Given the description of an element on the screen output the (x, y) to click on. 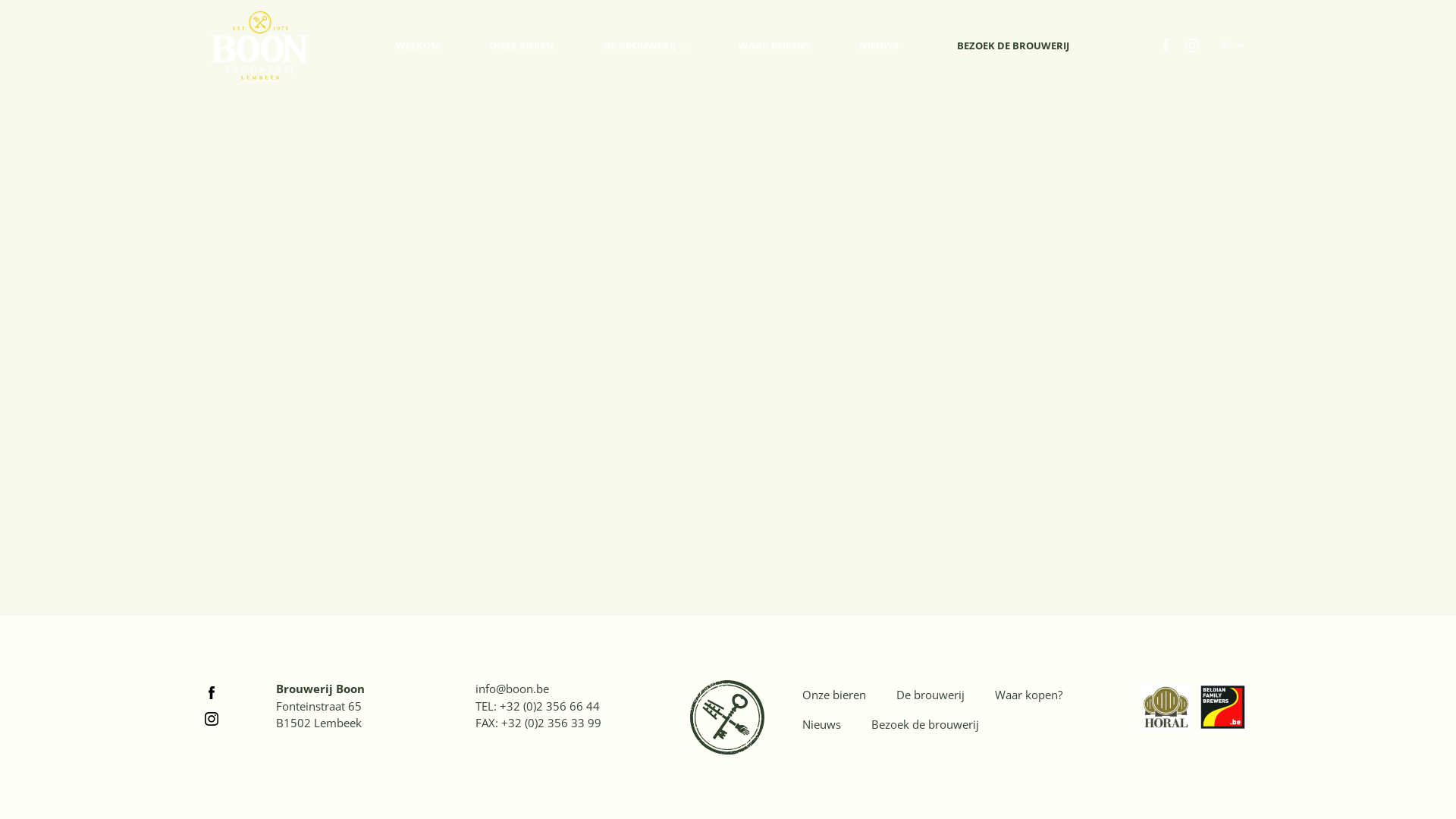
BEZOEK DE BROUWERIJ Element type: text (1012, 45)
WAAR KOPEN? Element type: text (773, 45)
info@boon.be Element type: text (512, 688)
De brouwerij Element type: text (930, 694)
NIEUWS Element type: text (878, 45)
+32 (0)2 356 66 44 Element type: text (549, 704)
ONZE BIEREN Element type: text (521, 45)
DE BROUWERIJ Element type: text (646, 45)
NL Element type: text (1232, 45)
Nieuws Element type: text (821, 724)
WELKOM Element type: text (417, 45)
Onze bieren Element type: text (834, 694)
Waar kopen? Element type: text (1028, 694)
Bezoek de brouwerij Element type: text (925, 724)
